Given the description of an element on the screen output the (x, y) to click on. 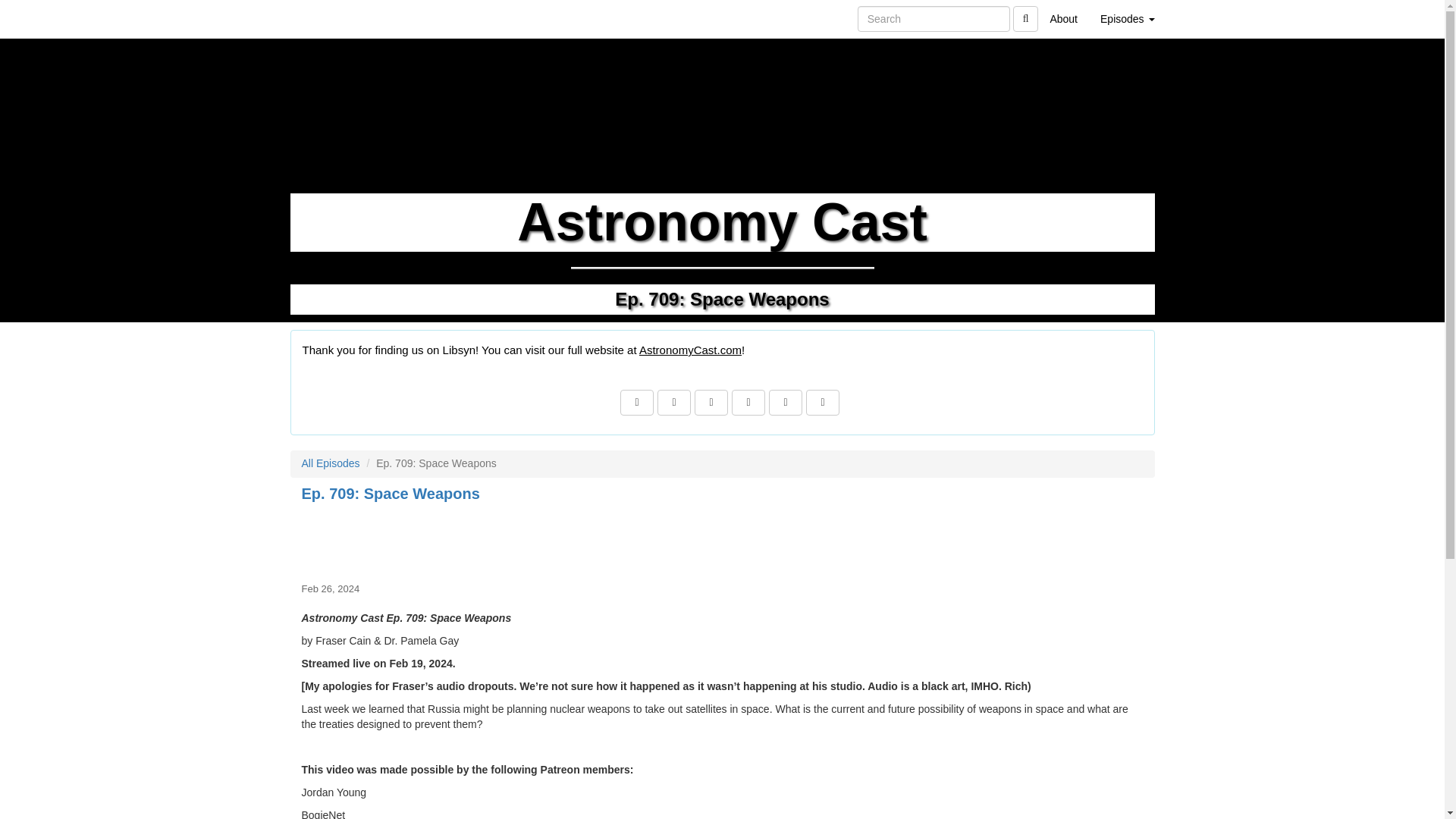
Home Page (320, 18)
Ep. 709: Space Weapons (721, 540)
About (1063, 18)
Episodes (1127, 18)
